Given the description of an element on the screen output the (x, y) to click on. 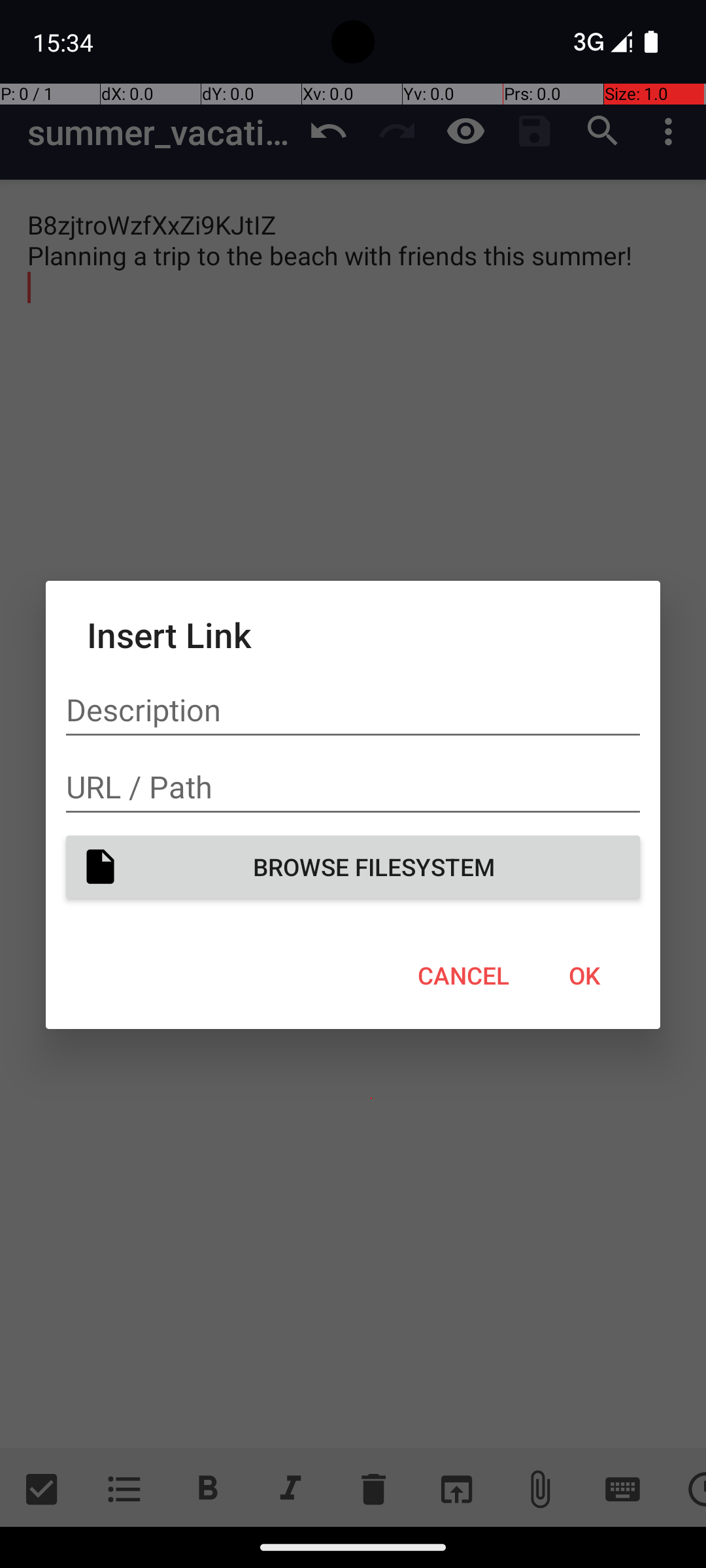
Description Element type: android.widget.EditText (352, 709)
URL / Path Element type: android.widget.EditText (352, 786)
BROWSE FILESYSTEM Element type: android.widget.Button (352, 866)
